Given the description of an element on the screen output the (x, y) to click on. 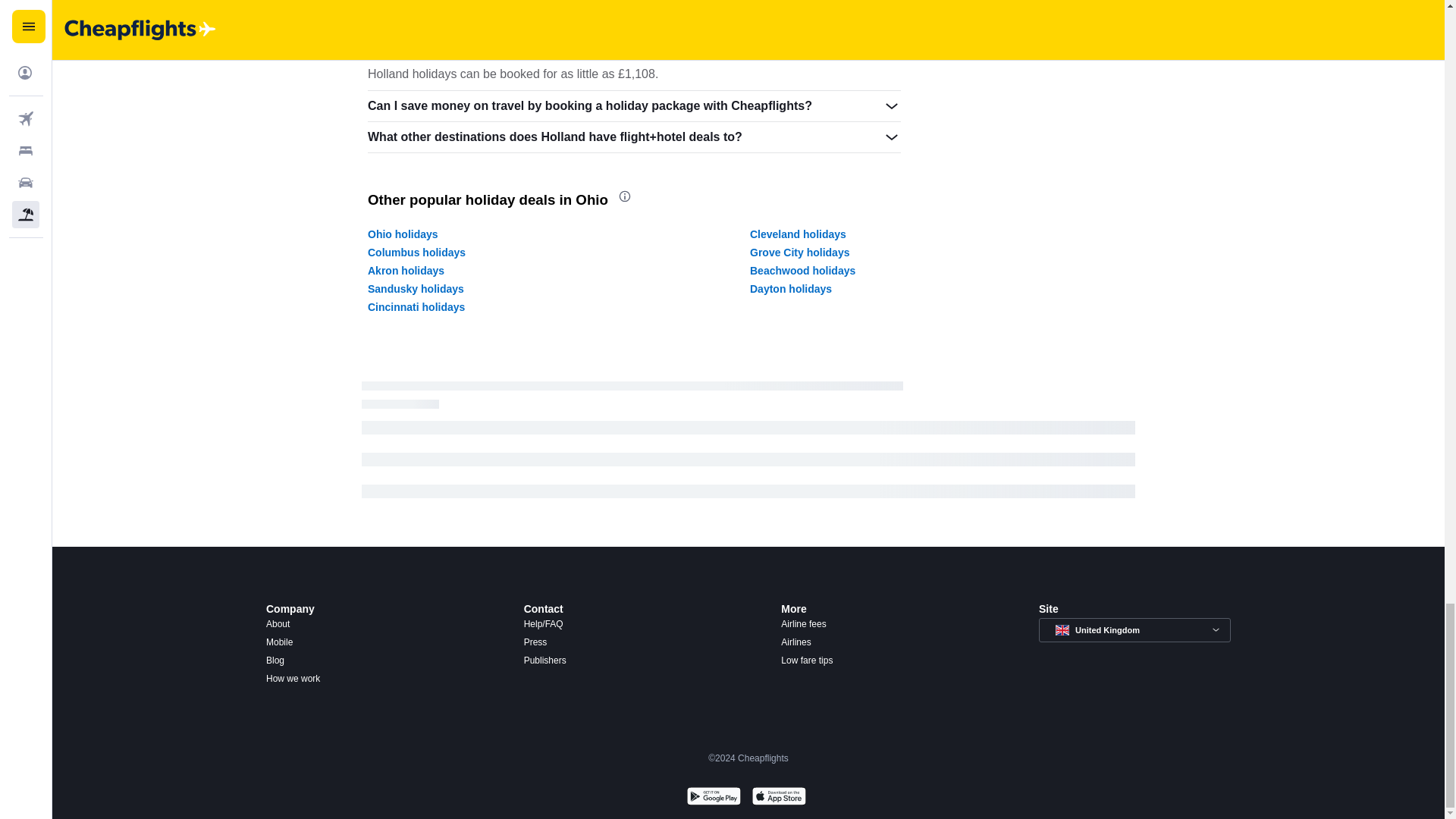
Columbus holidays (416, 252)
Akron holidays (406, 270)
Beachwood holidays (802, 270)
Dayton holidays (790, 288)
Cincinnati holidays (416, 306)
Grove City holidays (798, 252)
Download on the App Store (778, 797)
Ohio holidays (403, 234)
Get it on Google Play (713, 797)
Cleveland holidays (797, 234)
Sandusky holidays (416, 288)
